Given the description of an element on the screen output the (x, y) to click on. 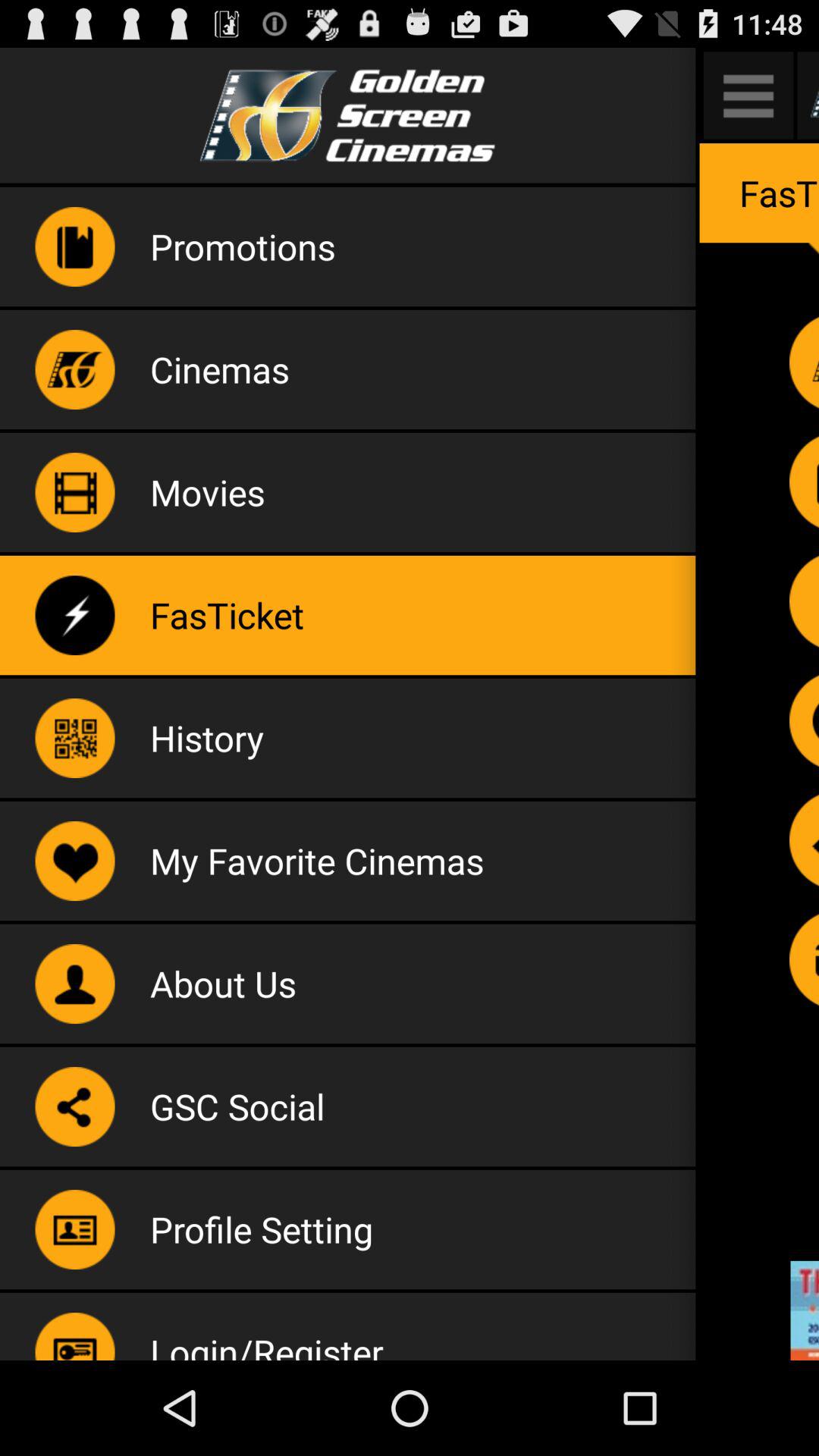
view menu (748, 95)
